Given the description of an element on the screen output the (x, y) to click on. 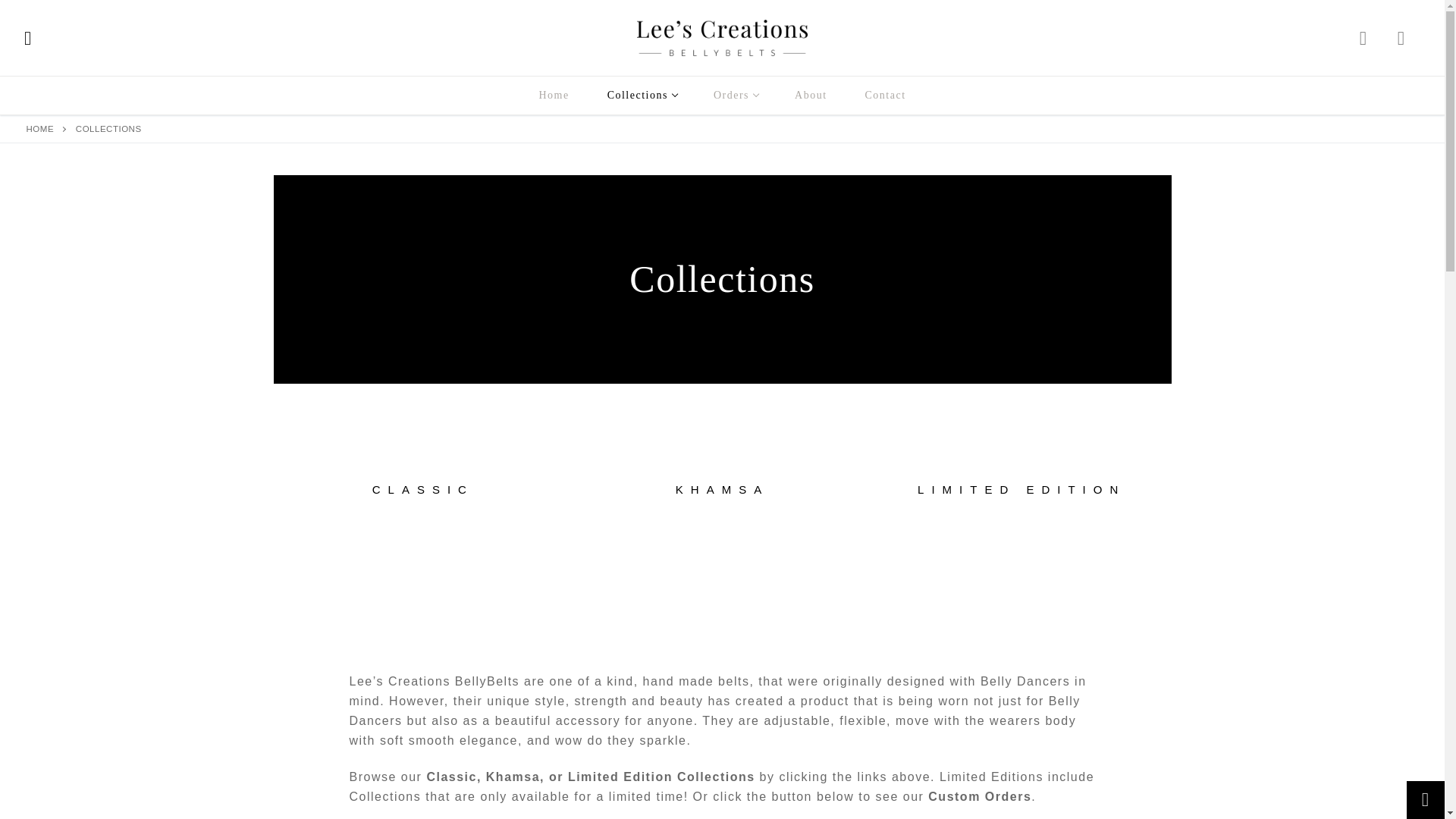
Home (553, 94)
LIMITED EDITION (1022, 490)
CLASSIC (422, 490)
KHAMSA (722, 490)
Facebook (1400, 37)
HOME (40, 128)
Contact (735, 94)
About (641, 94)
